Given the description of an element on the screen output the (x, y) to click on. 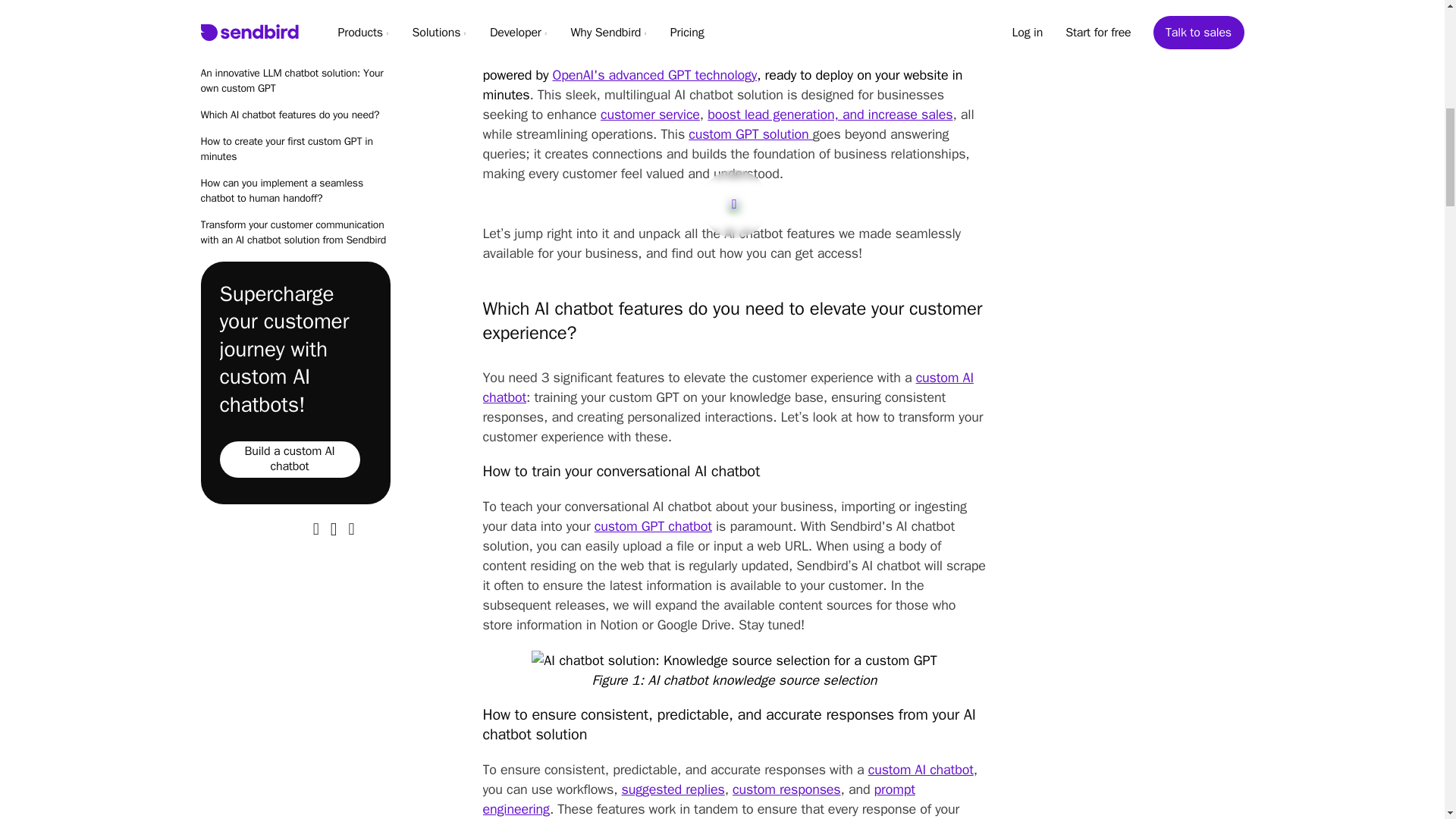
no-code AI chatbot (889, 54)
OpenAI's advanced GPT technology (654, 74)
